Given the description of an element on the screen output the (x, y) to click on. 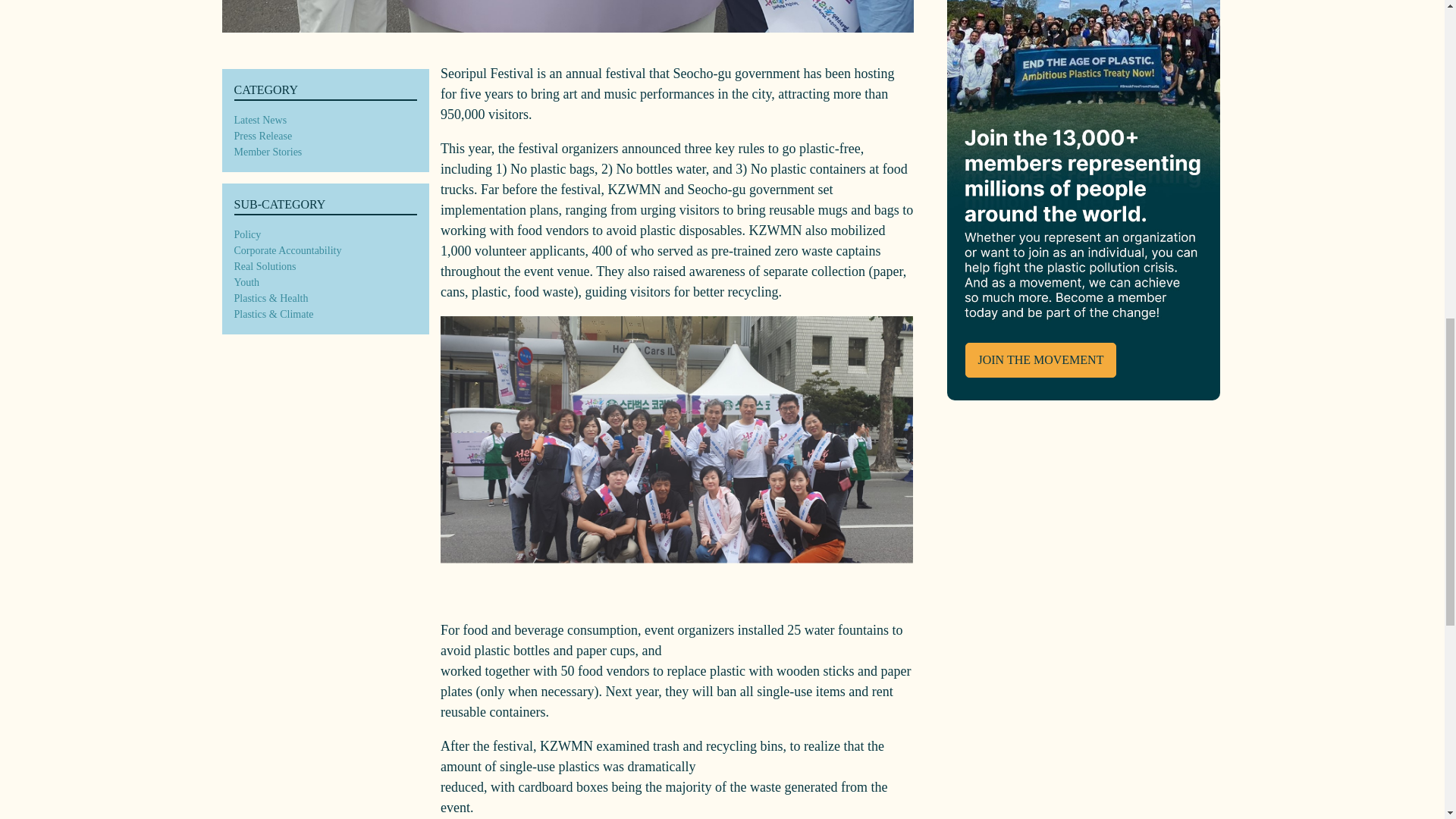
Member Stories (266, 151)
Press Release (262, 135)
Policy (246, 234)
Latest News (259, 119)
